Given the description of an element on the screen output the (x, y) to click on. 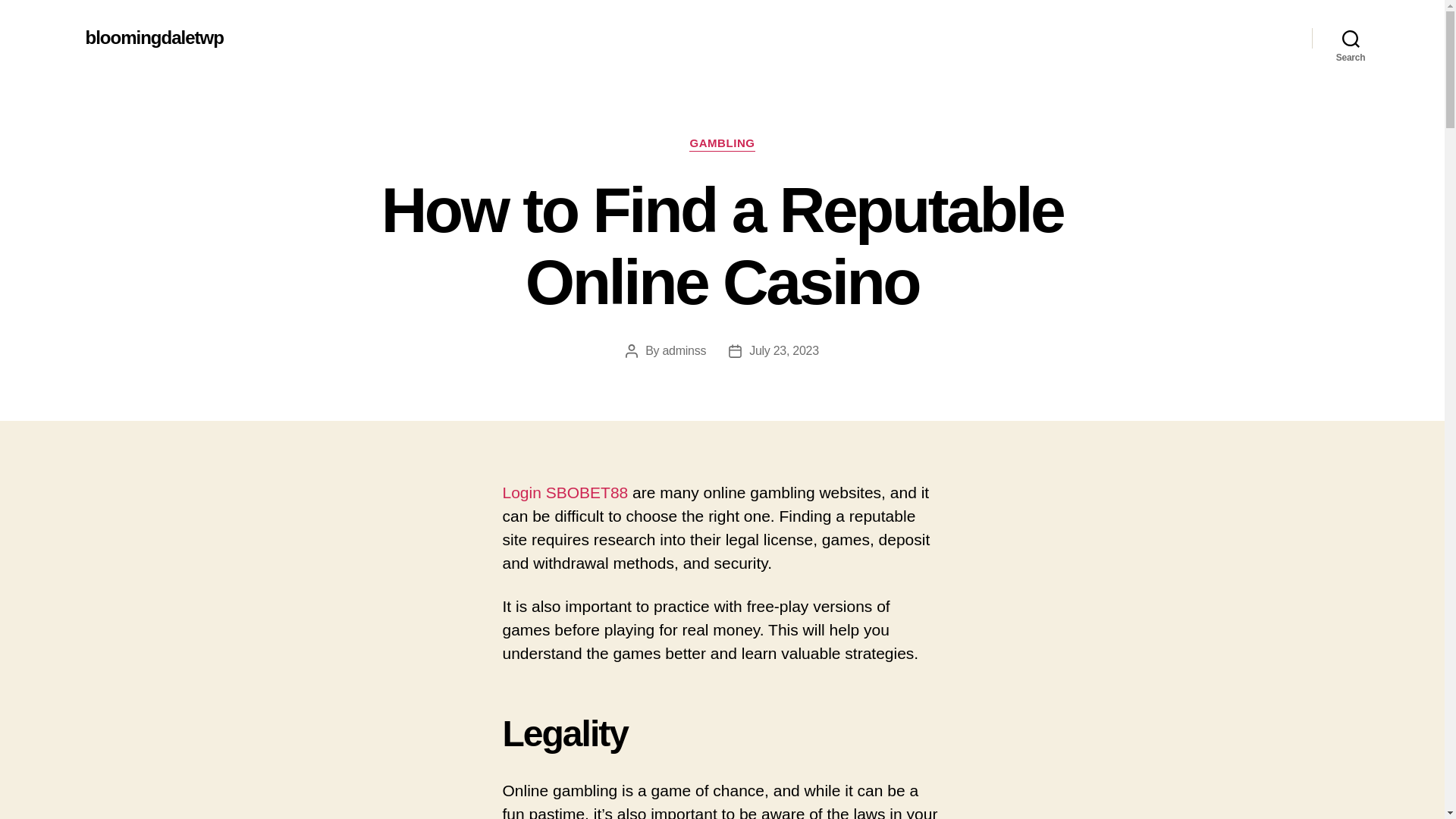
adminss (684, 350)
GAMBLING (721, 143)
Search (1350, 37)
bloomingdaletwp (153, 37)
July 23, 2023 (783, 350)
Login SBOBET88 (564, 492)
